Given the description of an element on the screen output the (x, y) to click on. 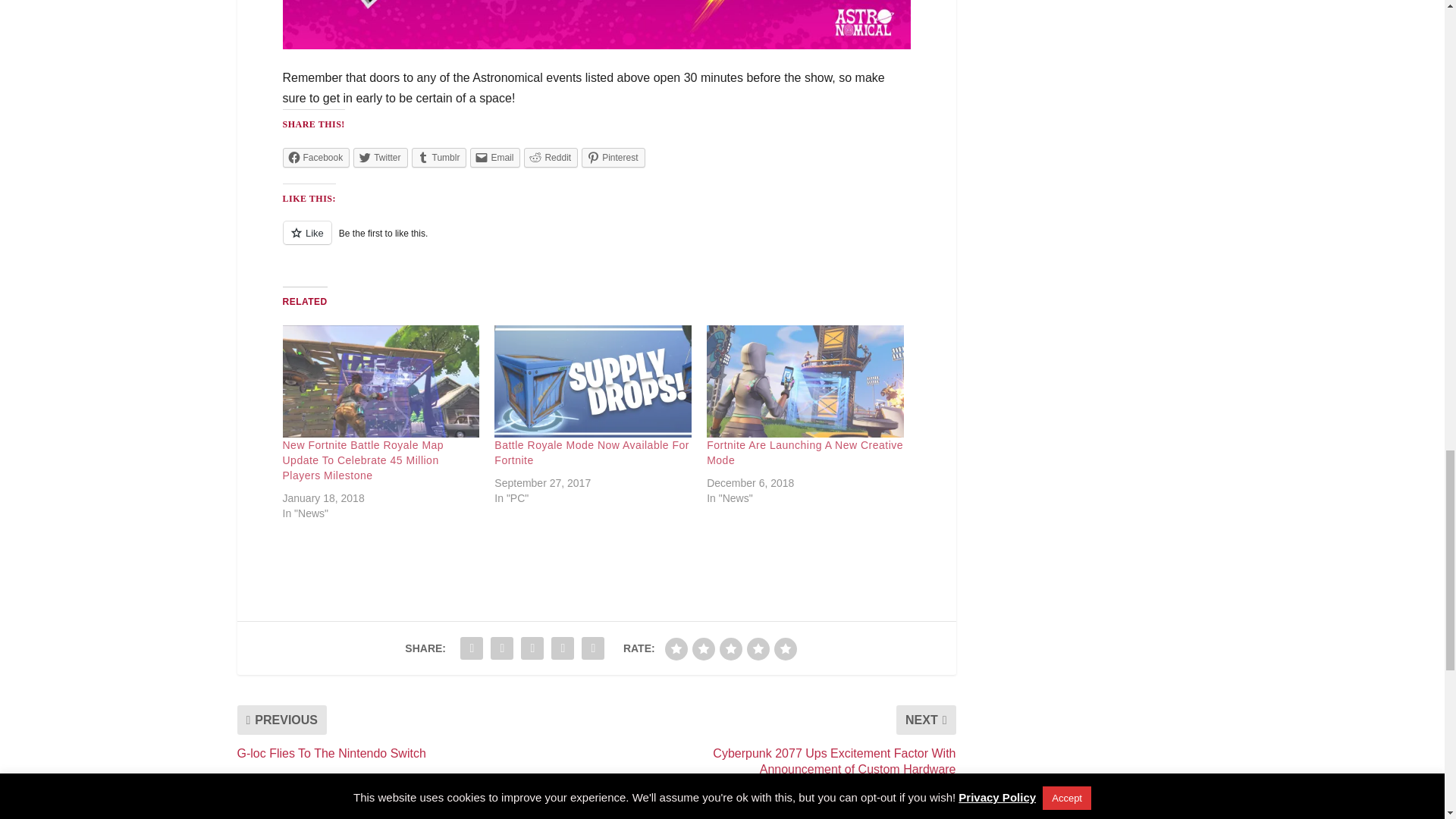
Battle Royale Mode Now Available For Fortnite (591, 452)
Twitter (380, 157)
Click to share on Facebook (315, 157)
Click to share on Reddit (551, 157)
Click to share on Twitter (380, 157)
Click to share on Tumblr (439, 157)
Facebook (315, 157)
Click to email this to a friend (494, 157)
Tumblr (439, 157)
Fortnite Are Launching A New Creative Mode (805, 381)
Battle Royale Mode Now Available For Fortnite (593, 381)
Like or Reblog (596, 241)
Click to share on Pinterest (612, 157)
